Given the description of an element on the screen output the (x, y) to click on. 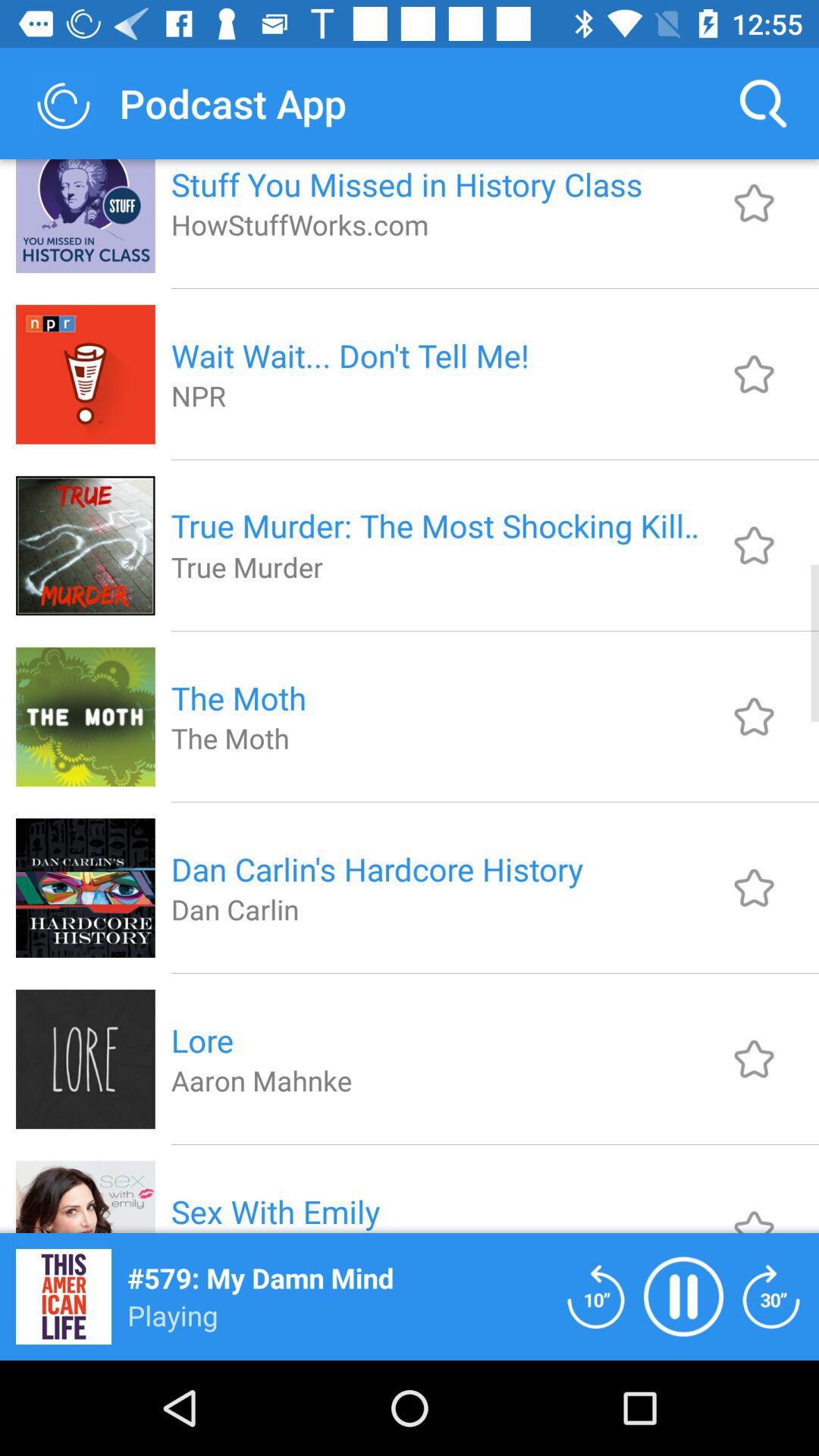
fast foward 30 seconds (771, 1296)
